Given the description of an element on the screen output the (x, y) to click on. 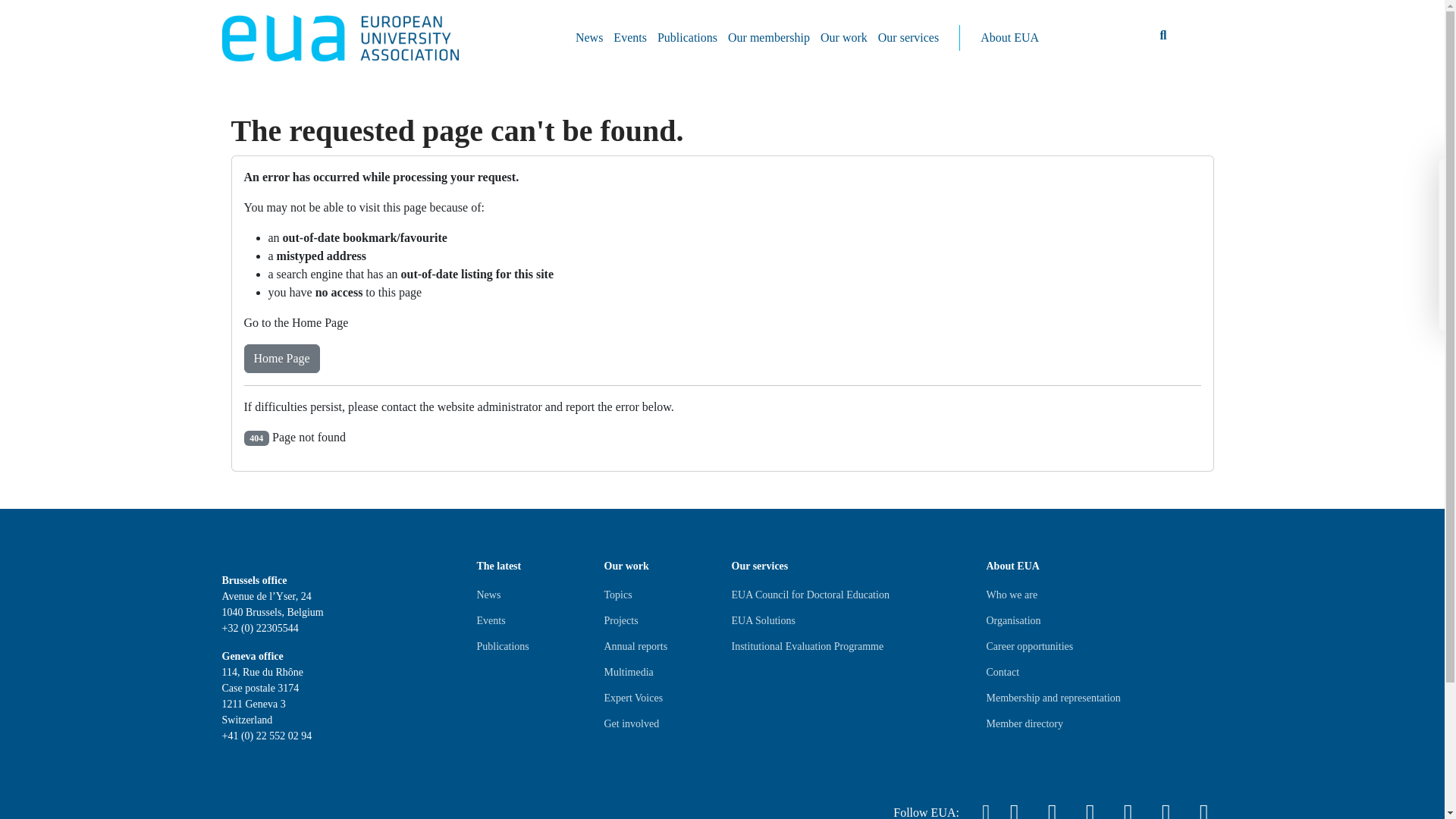
Events (490, 620)
Publications (502, 646)
Expert Voices (633, 698)
Projects (620, 620)
EUA Facebook (1089, 806)
Annual reports (635, 646)
Get involved (631, 723)
News (589, 37)
EUA Apple Podcasts (1204, 806)
About EUA (1009, 37)
